Given the description of an element on the screen output the (x, y) to click on. 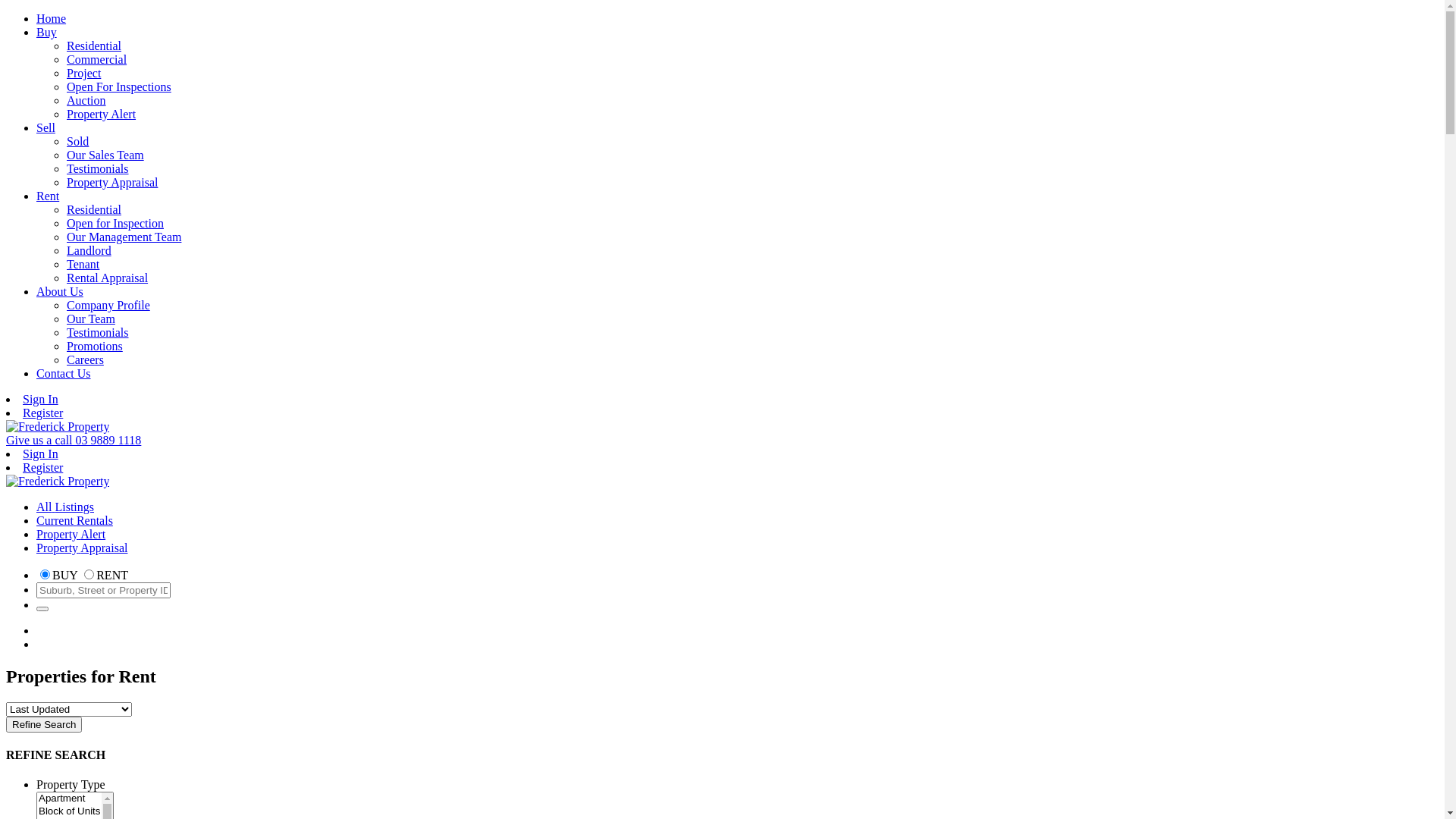
Our Management Team Element type: text (123, 236)
Testimonials Element type: text (97, 168)
Careers Element type: text (84, 359)
Testimonials Element type: text (97, 332)
All Listings Element type: text (65, 506)
Give us a call 03 9889 1118 Element type: text (73, 439)
Project Element type: text (83, 72)
About Us Element type: text (59, 291)
Sold Element type: text (77, 140)
Register Element type: text (42, 412)
Rental Appraisal Element type: text (106, 277)
Buy Element type: text (46, 31)
Tenant Element type: text (82, 263)
Contact Us Element type: text (63, 373)
Sign In Element type: text (40, 453)
Property Alert Element type: text (100, 113)
Property Appraisal Element type: text (81, 547)
Our Team Element type: text (90, 318)
Refine Search Element type: text (43, 724)
Sell Element type: text (45, 127)
Open For Inspections Element type: text (118, 86)
Commercial Element type: text (96, 59)
Landlord Element type: text (88, 250)
Property Appraisal Element type: text (111, 181)
Home Element type: text (50, 18)
Current Rentals Element type: text (74, 520)
Company Profile Element type: text (108, 304)
Open for Inspection Element type: text (114, 222)
Residential Element type: text (93, 209)
Rent Element type: text (47, 195)
Auction Element type: text (86, 100)
Register Element type: text (42, 467)
Sign In Element type: text (40, 398)
Promotions Element type: text (94, 345)
Property Alert Element type: text (70, 533)
Residential Element type: text (93, 45)
Our Sales Team Element type: text (105, 154)
